Given the description of an element on the screen output the (x, y) to click on. 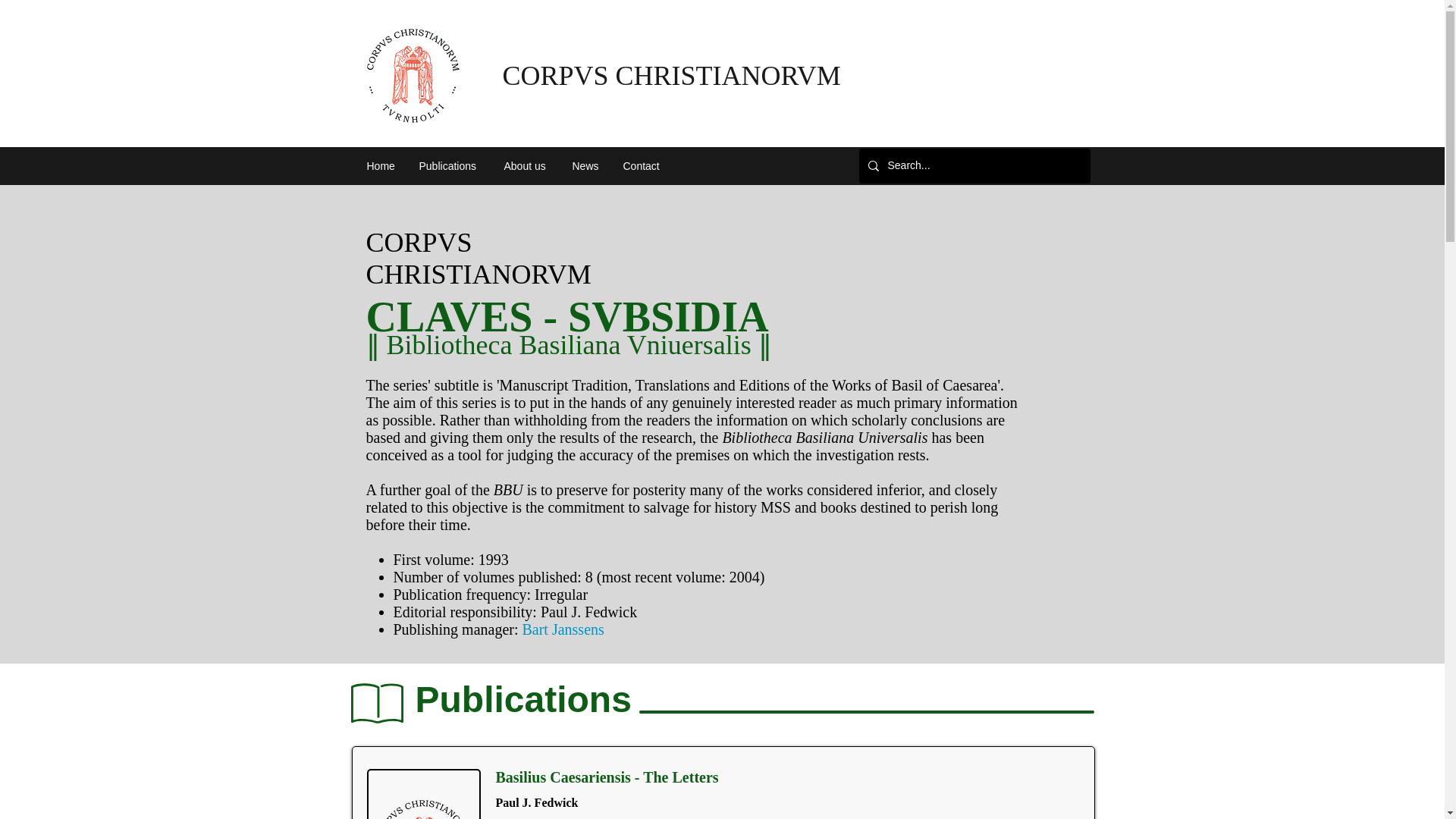
CLAVES (448, 316)
News (585, 165)
Bart Janssens (562, 629)
Home (381, 165)
